Given the description of an element on the screen output the (x, y) to click on. 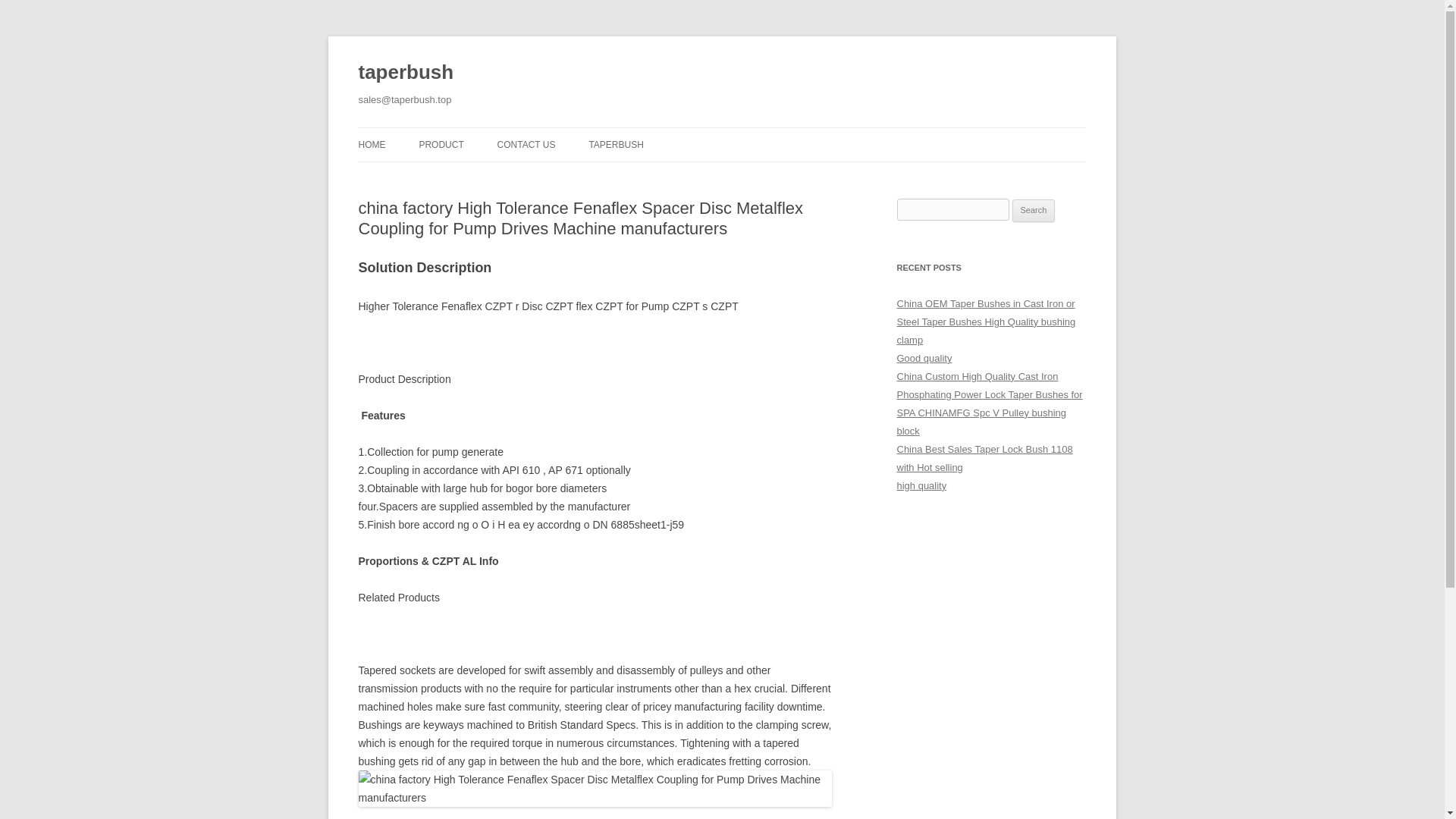
Search (1033, 210)
taperbush (405, 72)
Search (1033, 210)
PRODUCT (441, 144)
China Best Sales Taper Lock Bush 1108 with Hot selling (983, 458)
taperbush (405, 72)
Good quality (924, 357)
TAPERBUSH (615, 144)
